Given the description of an element on the screen output the (x, y) to click on. 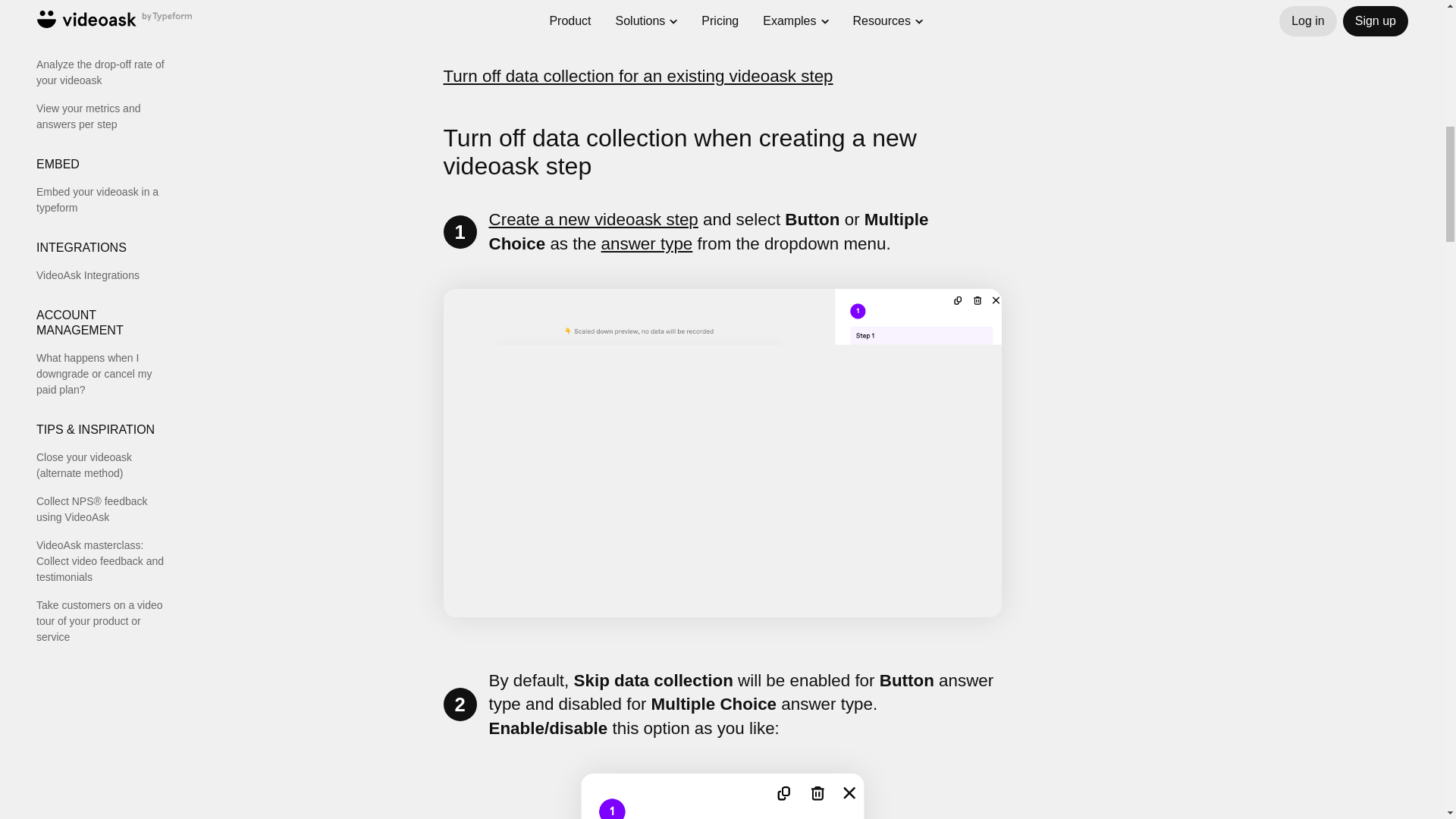
VideoAsk Integrations (105, 275)
Embed your videoask in a typeform (105, 200)
View your metrics and answers per step (105, 116)
Analyze the drop-off rate of your videoask (105, 72)
Download your videos (105, 2)
